Given the description of an element on the screen output the (x, y) to click on. 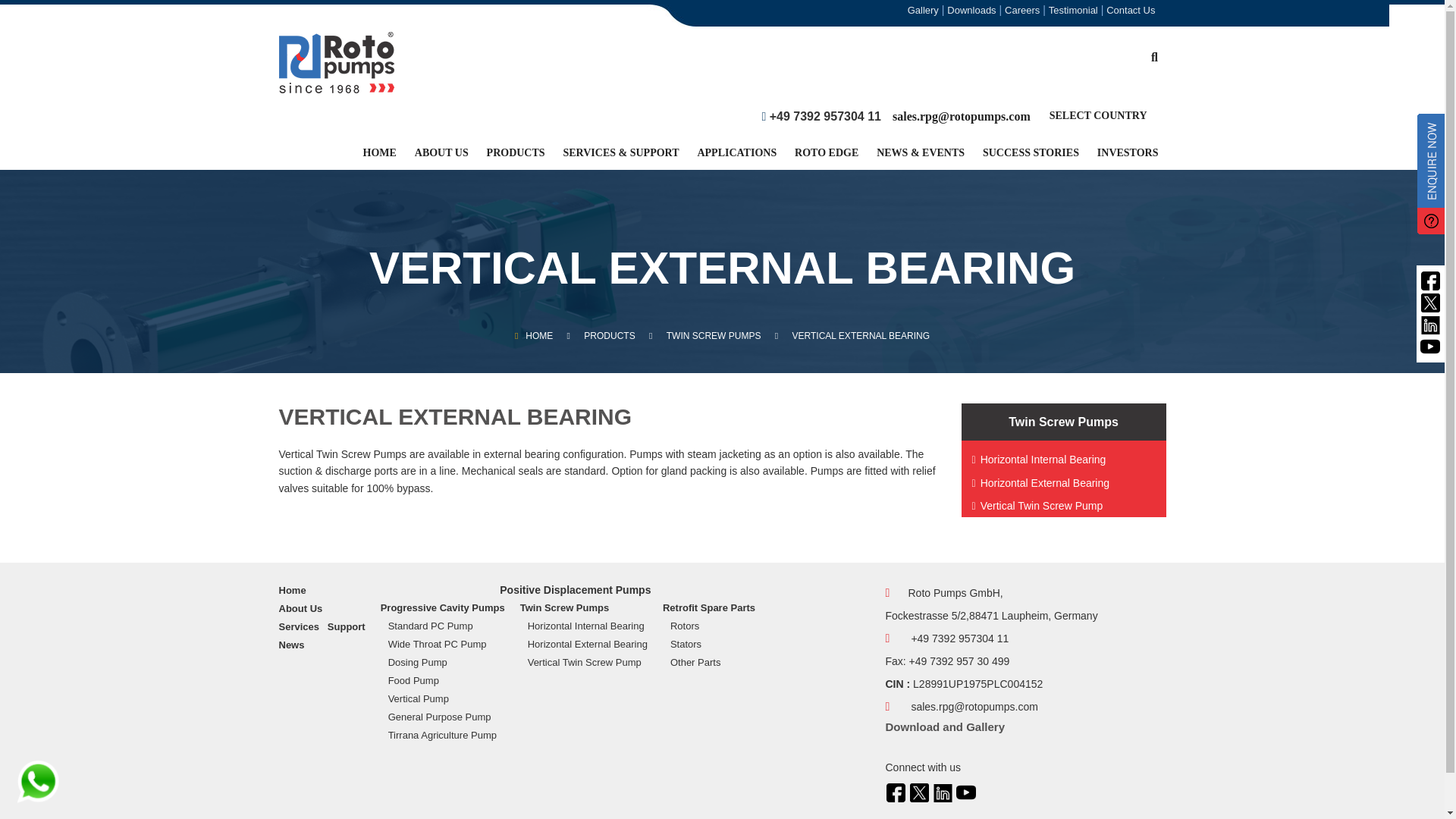
Tirrana Agriculture Pump (446, 735)
Gallery (923, 9)
Vertical Pump (446, 699)
HOME (379, 158)
Contact Us (1130, 9)
PRODUCTS (515, 158)
General Purpose Pump (446, 717)
Testimonial (1072, 9)
Careers (1021, 9)
ABOUT US (441, 158)
Industrial Pumps Manufacturers Company (336, 62)
Positive Displacement Pumps (574, 589)
Food Pump (446, 680)
Standard PC Pump (446, 626)
Downloads (971, 9)
